Given the description of an element on the screen output the (x, y) to click on. 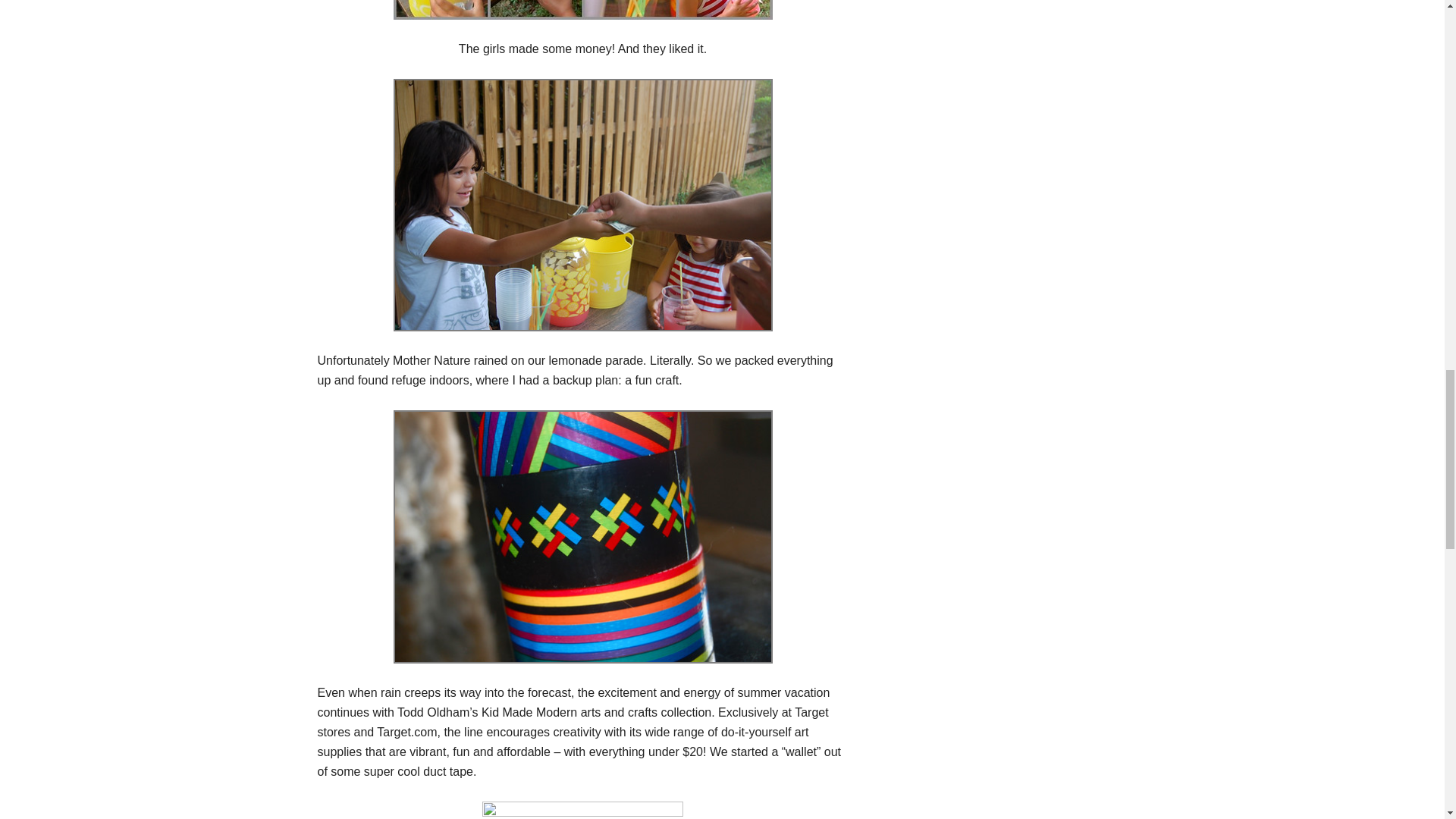
Money exchange by MrsMarianaP, on Flickr (582, 204)
Lemonade stand collage 3 by MrsMarianaP, on Flickr (582, 9)
Cool duct tape by MrsMarianaP, on Flickr (582, 536)
